Given the description of an element on the screen output the (x, y) to click on. 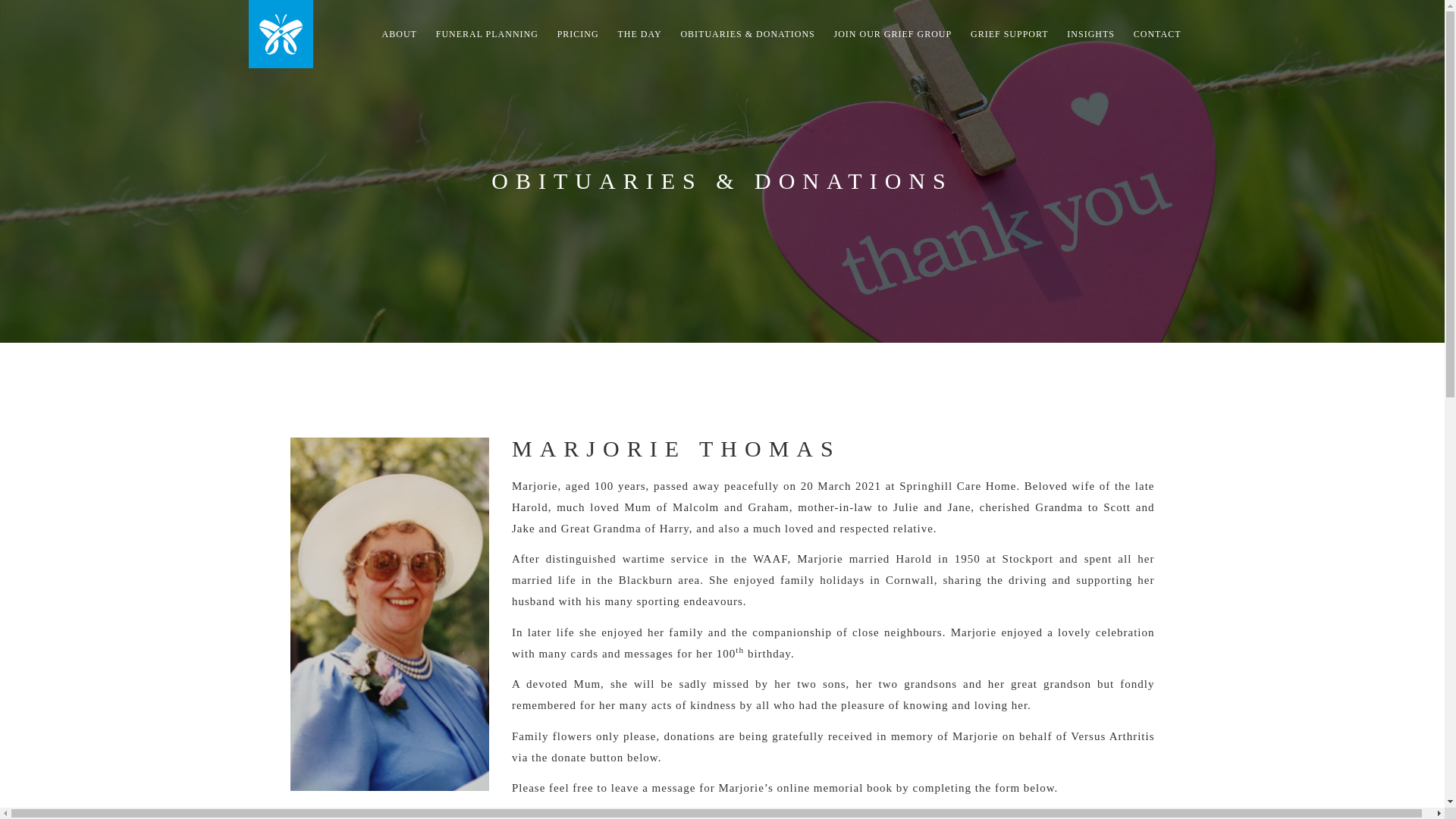
CONTACT (1157, 33)
JOIN OUR GRIEF GROUP (893, 33)
GRIEF SUPPORT (1009, 33)
FUNERAL PLANNING (487, 33)
INSIGHTS (1090, 33)
